Given the description of an element on the screen output the (x, y) to click on. 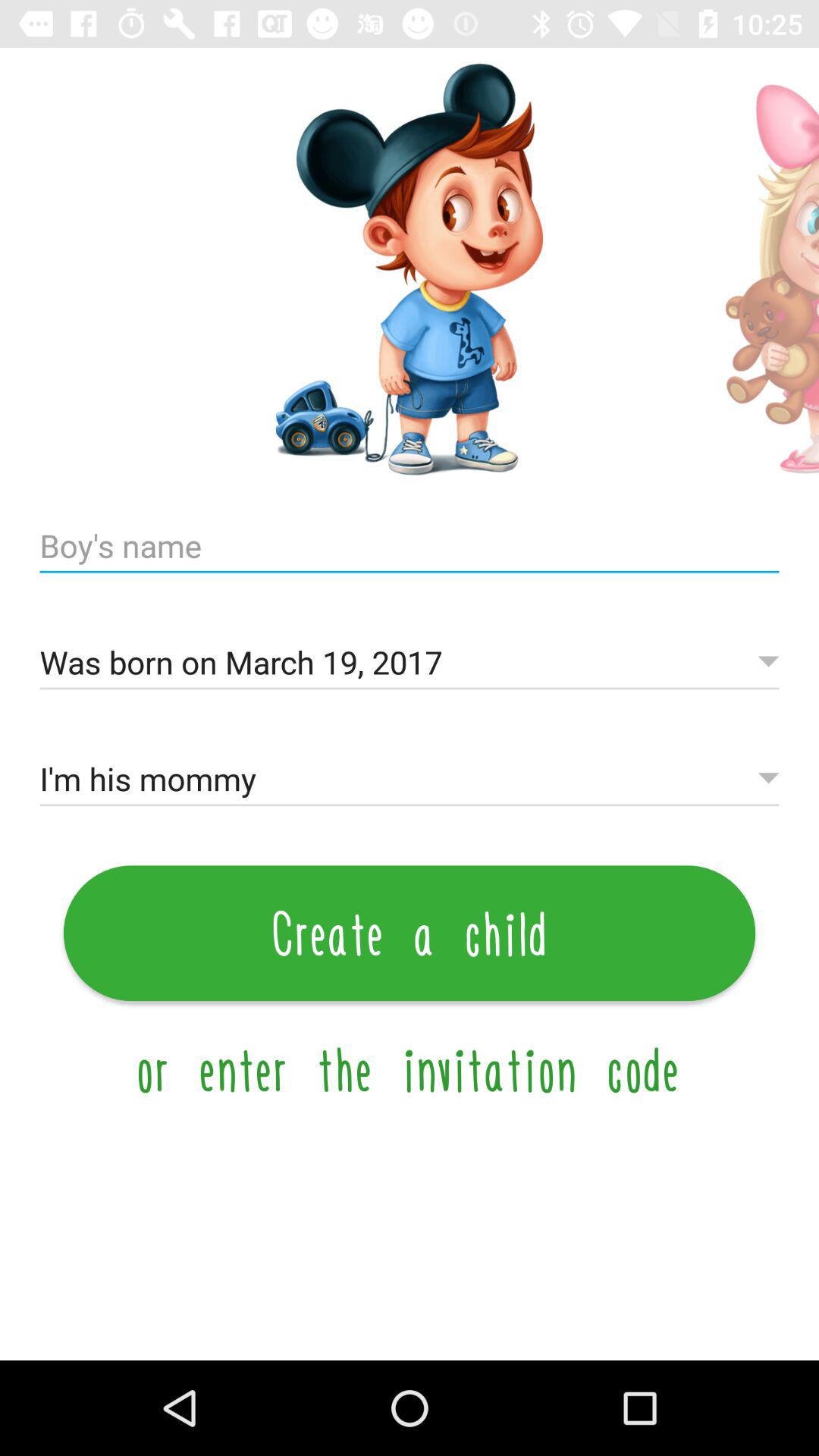
turn on the was born on (409, 662)
